Given the description of an element on the screen output the (x, y) to click on. 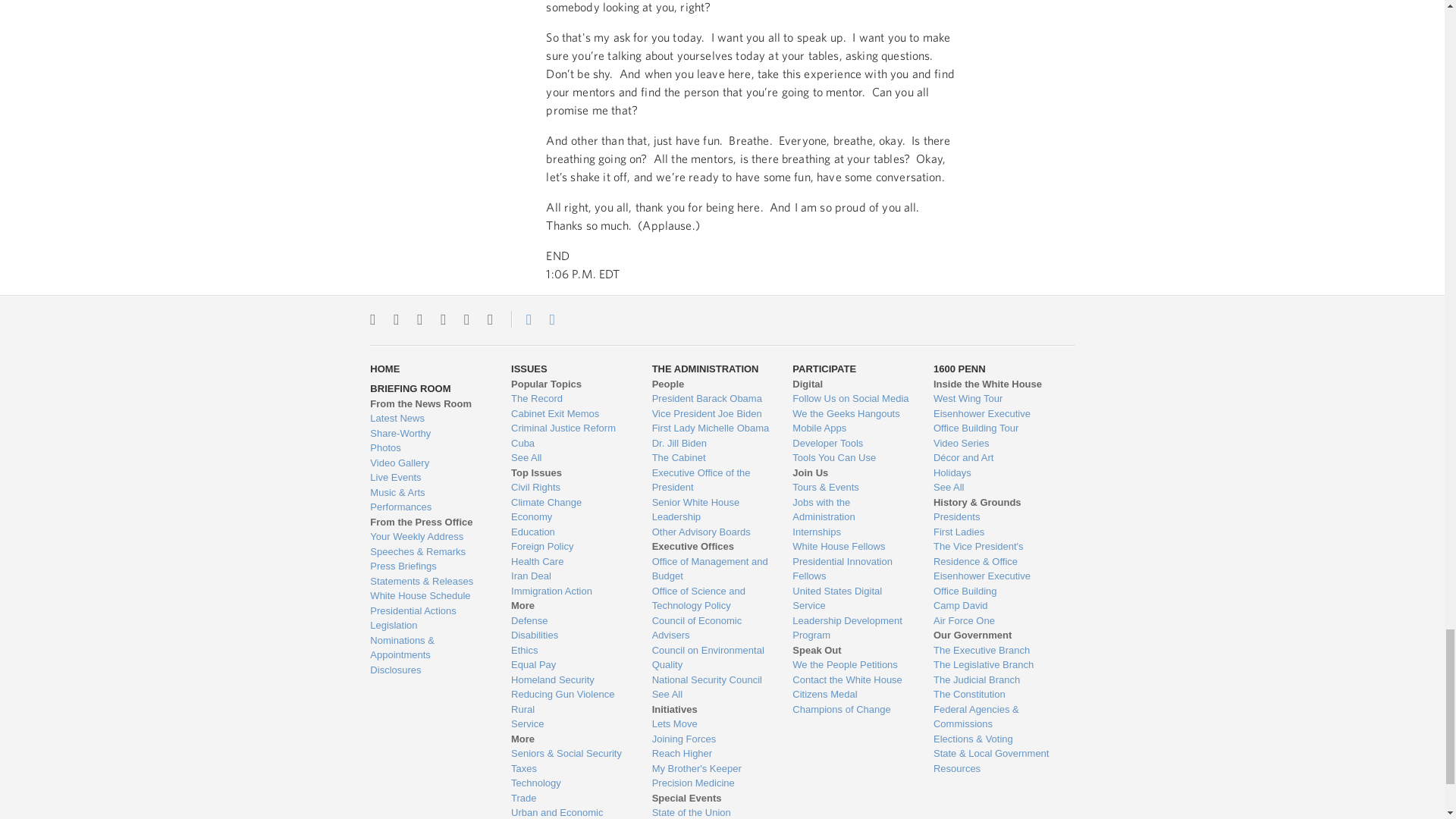
Contact the Whitehouse. (521, 319)
Check out the most popular infographics and videos (428, 433)
View the photo of the day and other galleries (428, 447)
Read the latest blog posts from 1600 Pennsylvania Ave (428, 418)
Watch behind-the-scenes videos and more (428, 462)
